Given the description of an element on the screen output the (x, y) to click on. 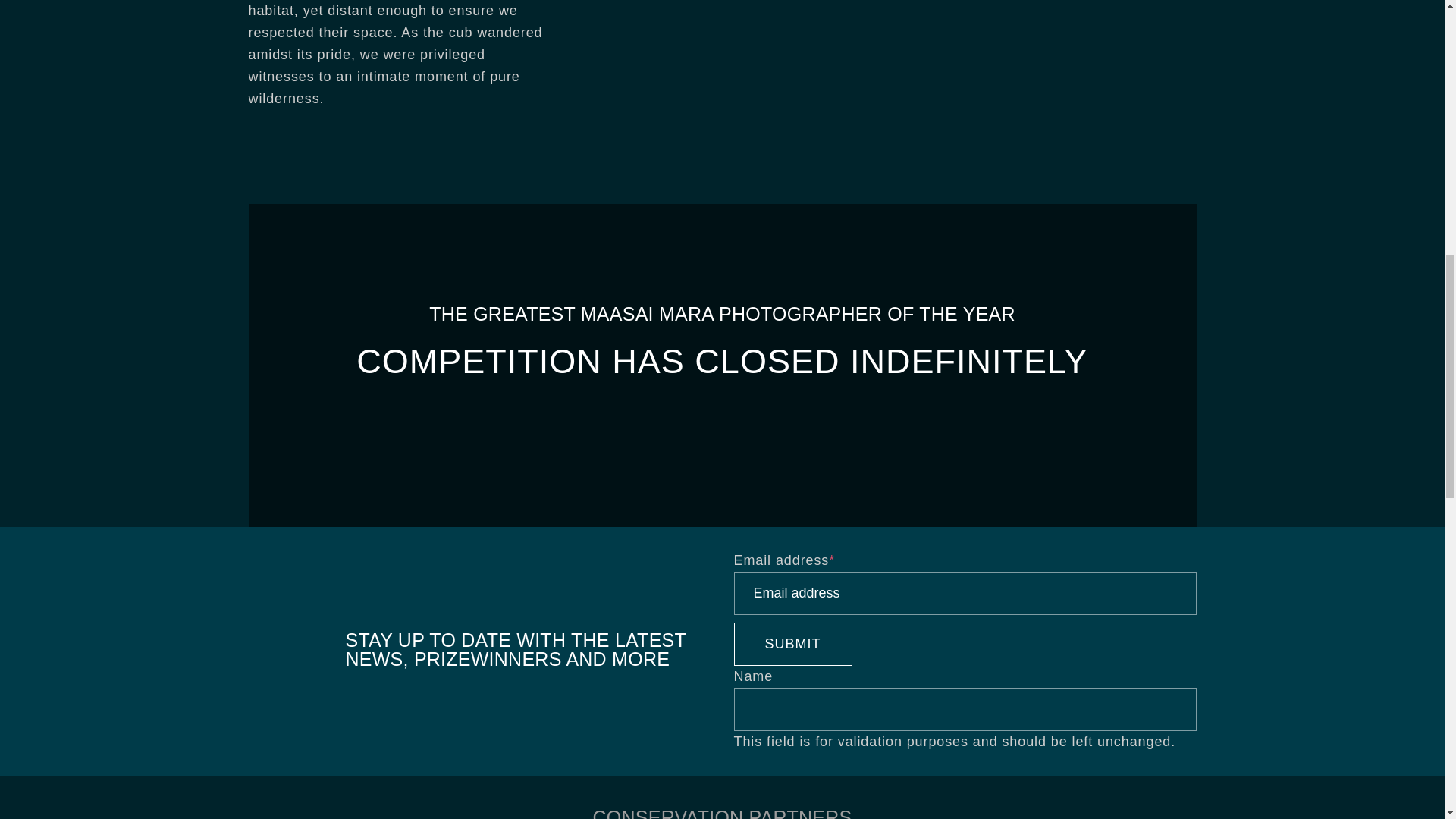
tgmm-favicon-white (284, 651)
SUBMIT (792, 643)
